Given the description of an element on the screen output the (x, y) to click on. 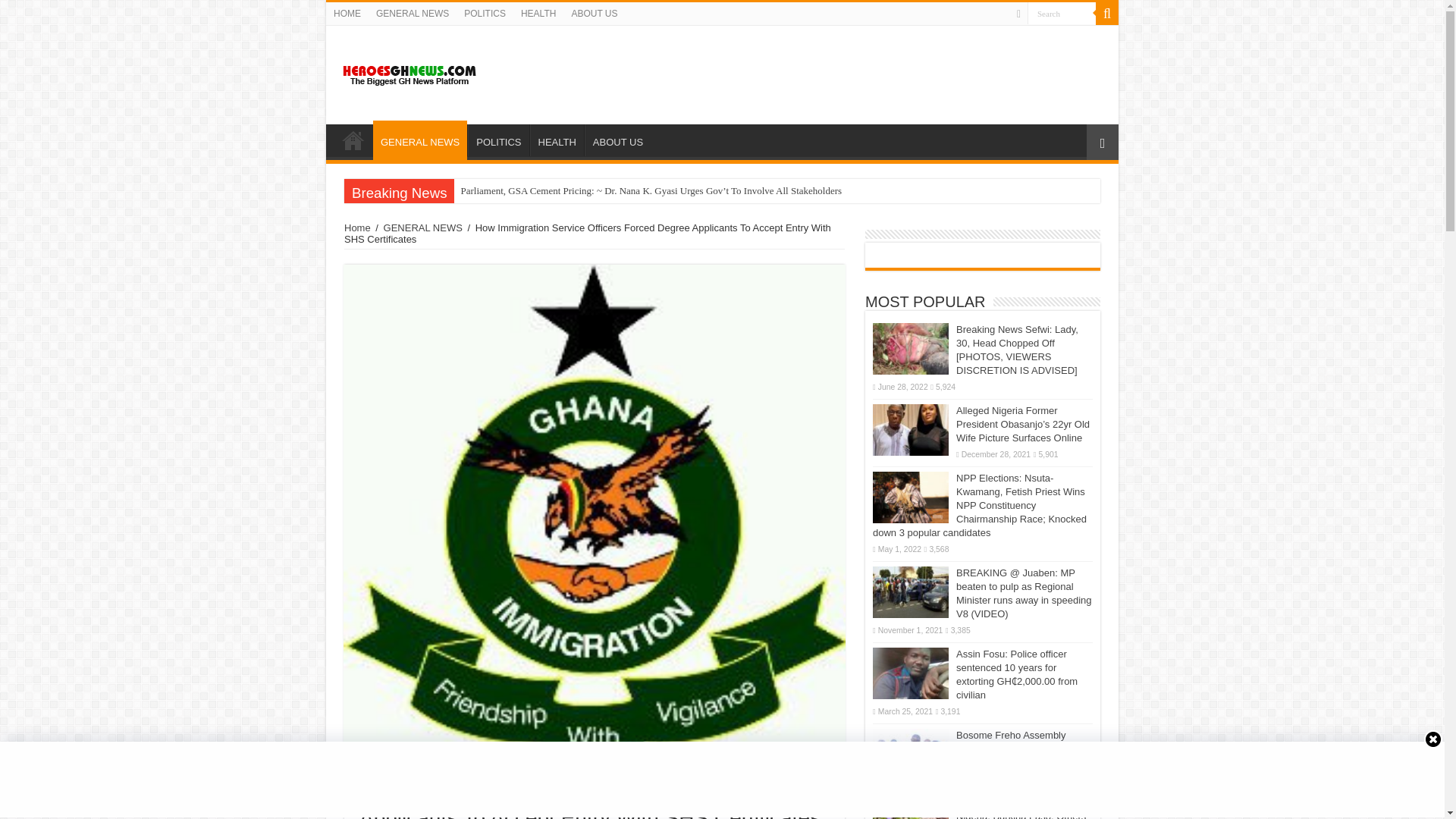
Home (357, 227)
GENERAL NEWS (419, 139)
POLITICS (497, 140)
GENERAL NEWS (412, 13)
Search (1061, 13)
HEALTH (538, 13)
HOME (352, 140)
Search (1061, 13)
HEROESNEWSGH (409, 72)
ABOUT US (617, 140)
HEALTH (556, 140)
GENERAL NEWS (423, 227)
POLITICS (485, 13)
ABOUT US (593, 13)
Search (1107, 13)
